Given the description of an element on the screen output the (x, y) to click on. 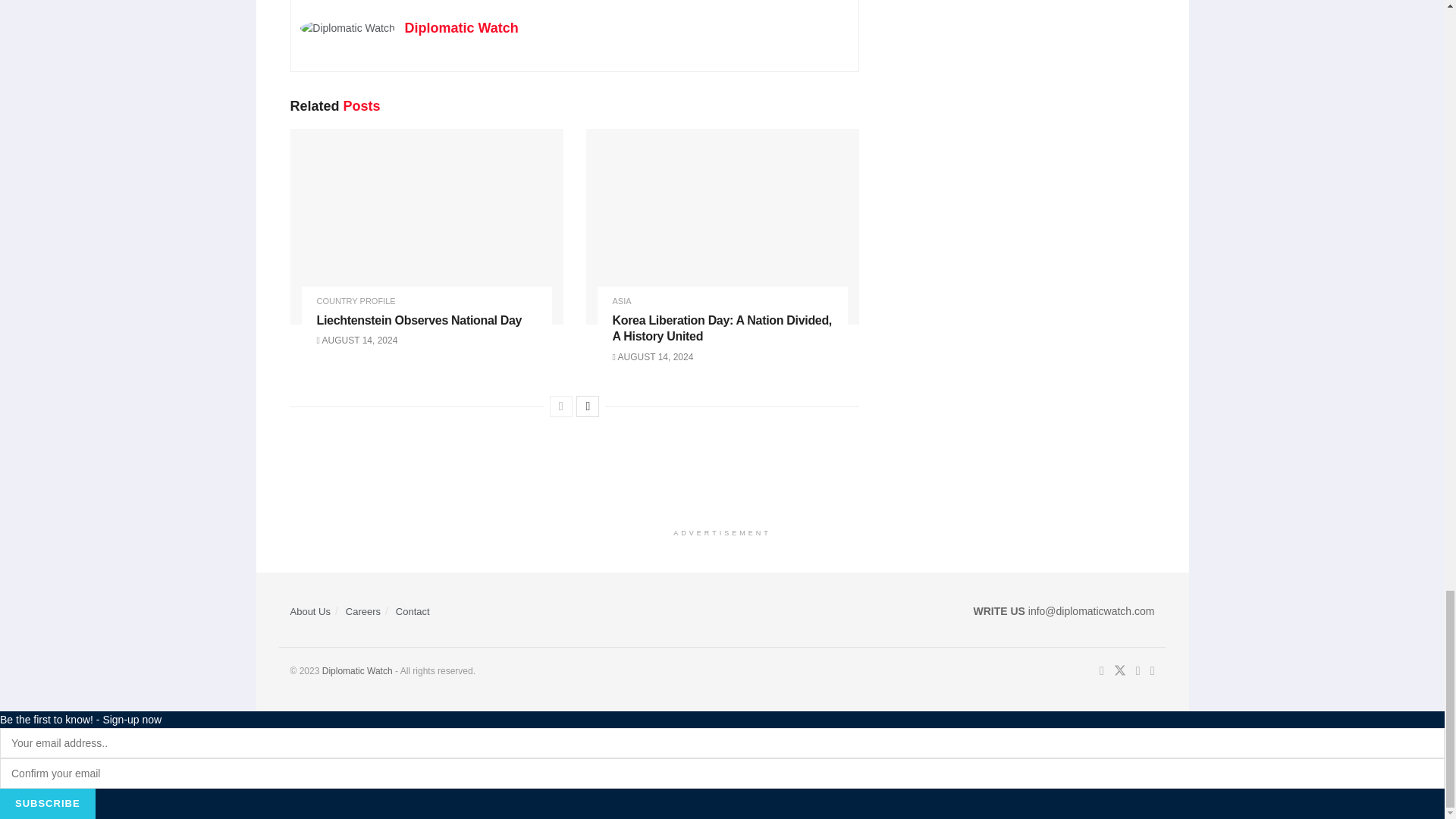
A Conduit Communications Partner (357, 670)
Previous (561, 405)
Next (587, 405)
